Given the description of an element on the screen output the (x, y) to click on. 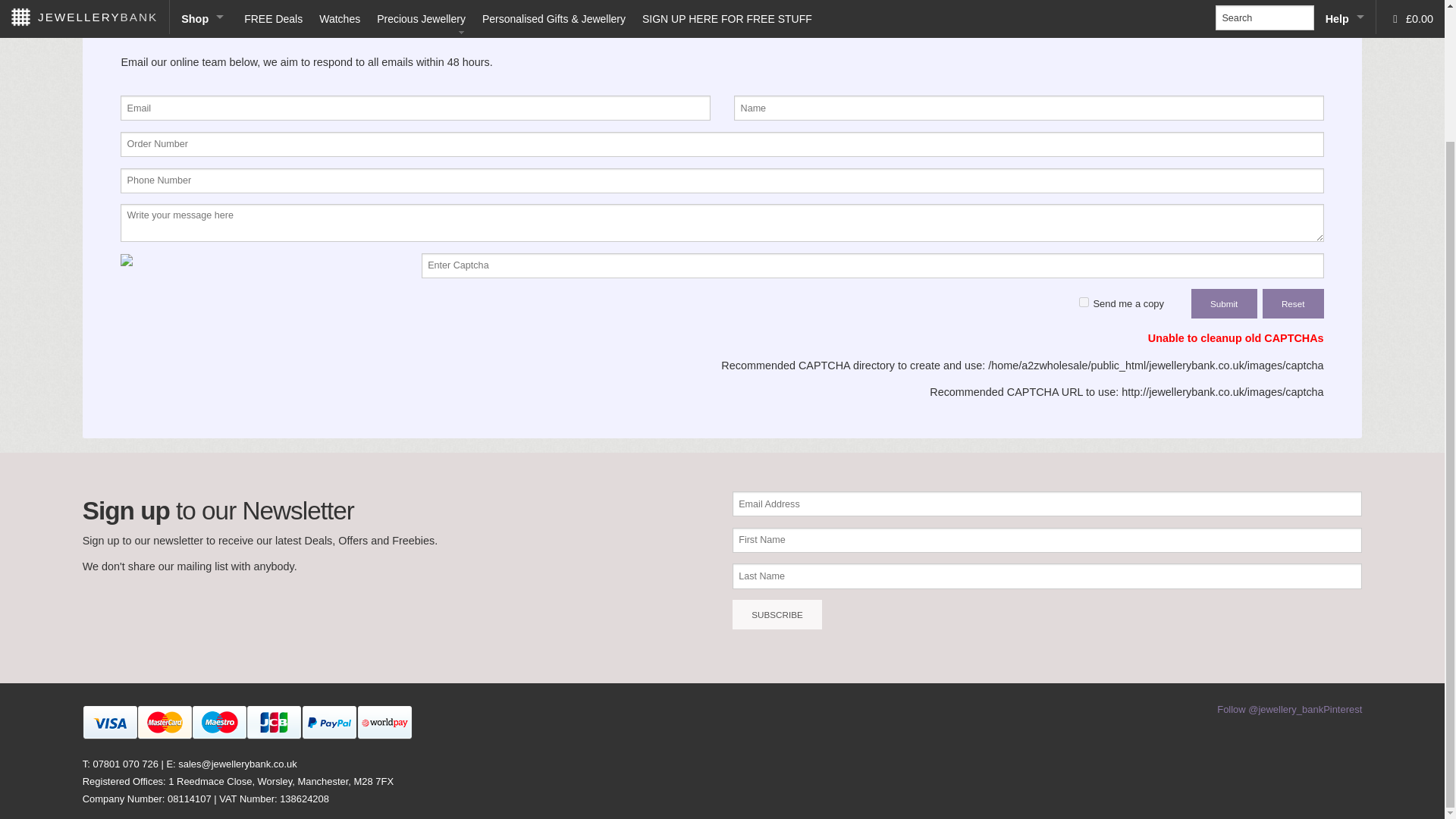
SUBSCRIBE (777, 614)
1 (1083, 302)
Reset (1292, 303)
Reset (1292, 303)
Submit (1224, 303)
Click here to submit the form (1224, 303)
SUBSCRIBE (777, 614)
Submit (1224, 303)
Pinterest (1342, 708)
